Given the description of an element on the screen output the (x, y) to click on. 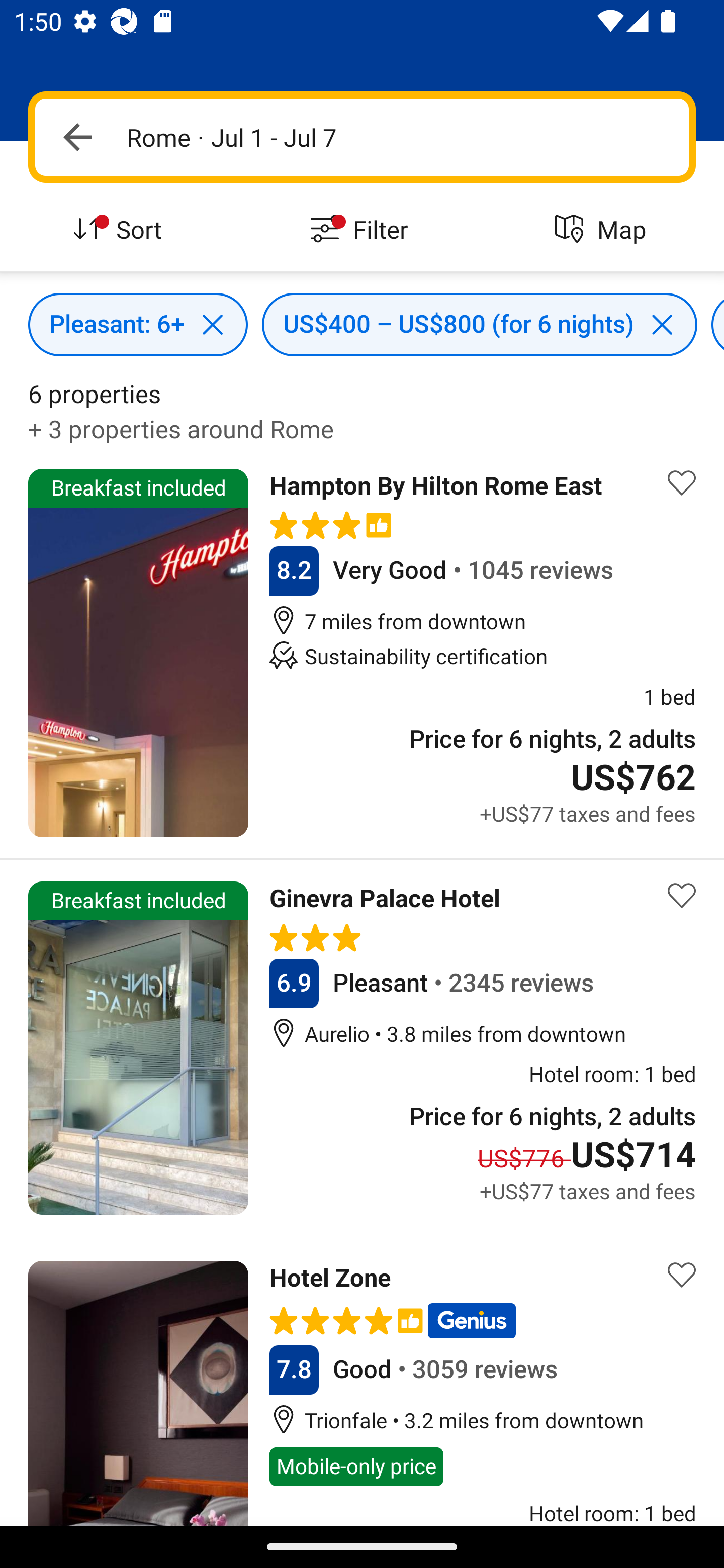
Navigate up Rome · Jul 1 - Jul 7 (362, 136)
Navigate up (77, 136)
Sort (120, 230)
Filter (361, 230)
Map (603, 230)
Save property to list (681, 482)
Save property to list (681, 894)
Save property to list (681, 1274)
